Given the description of an element on the screen output the (x, y) to click on. 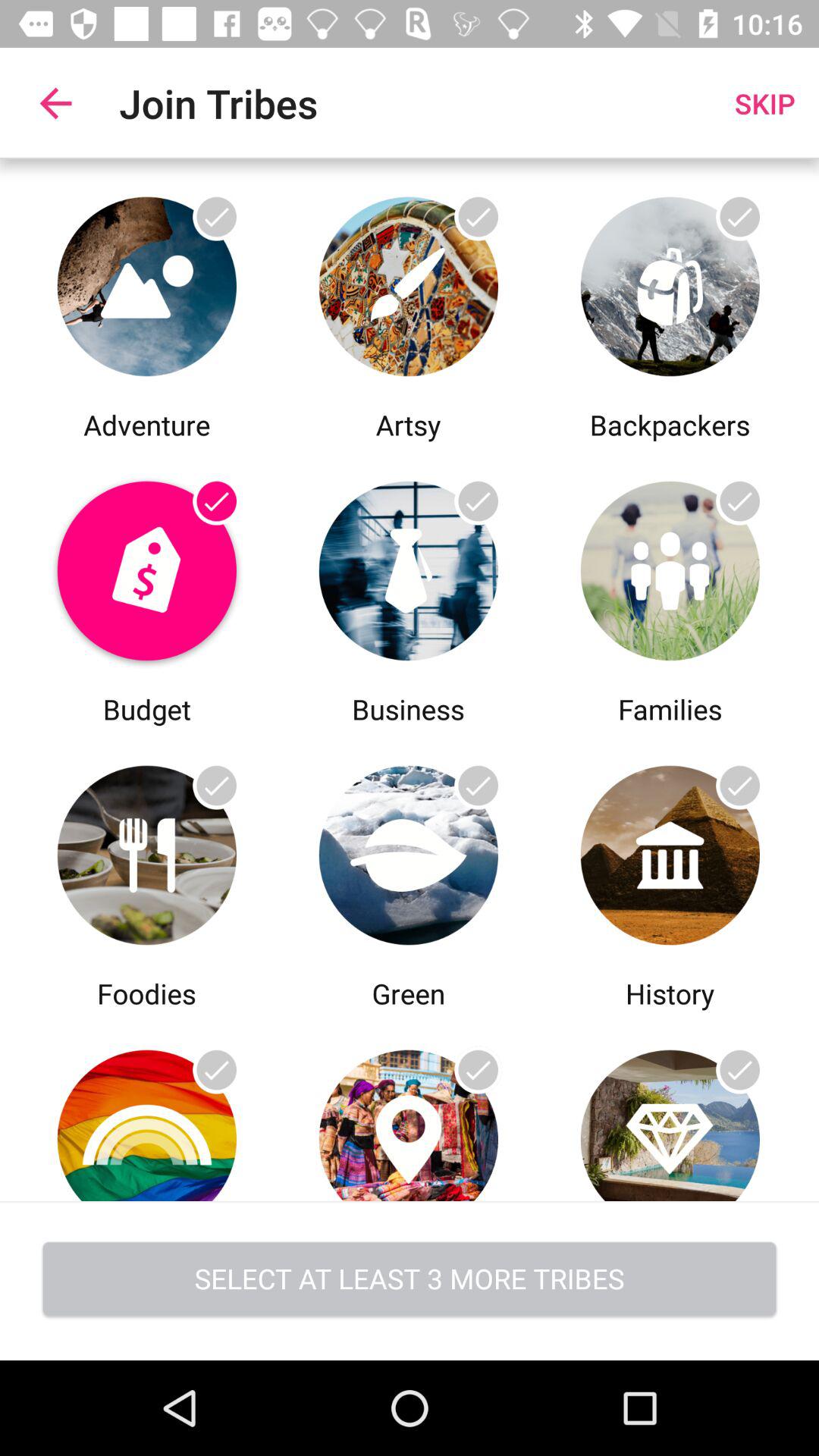
press for green (408, 1106)
